Given the description of an element on the screen output the (x, y) to click on. 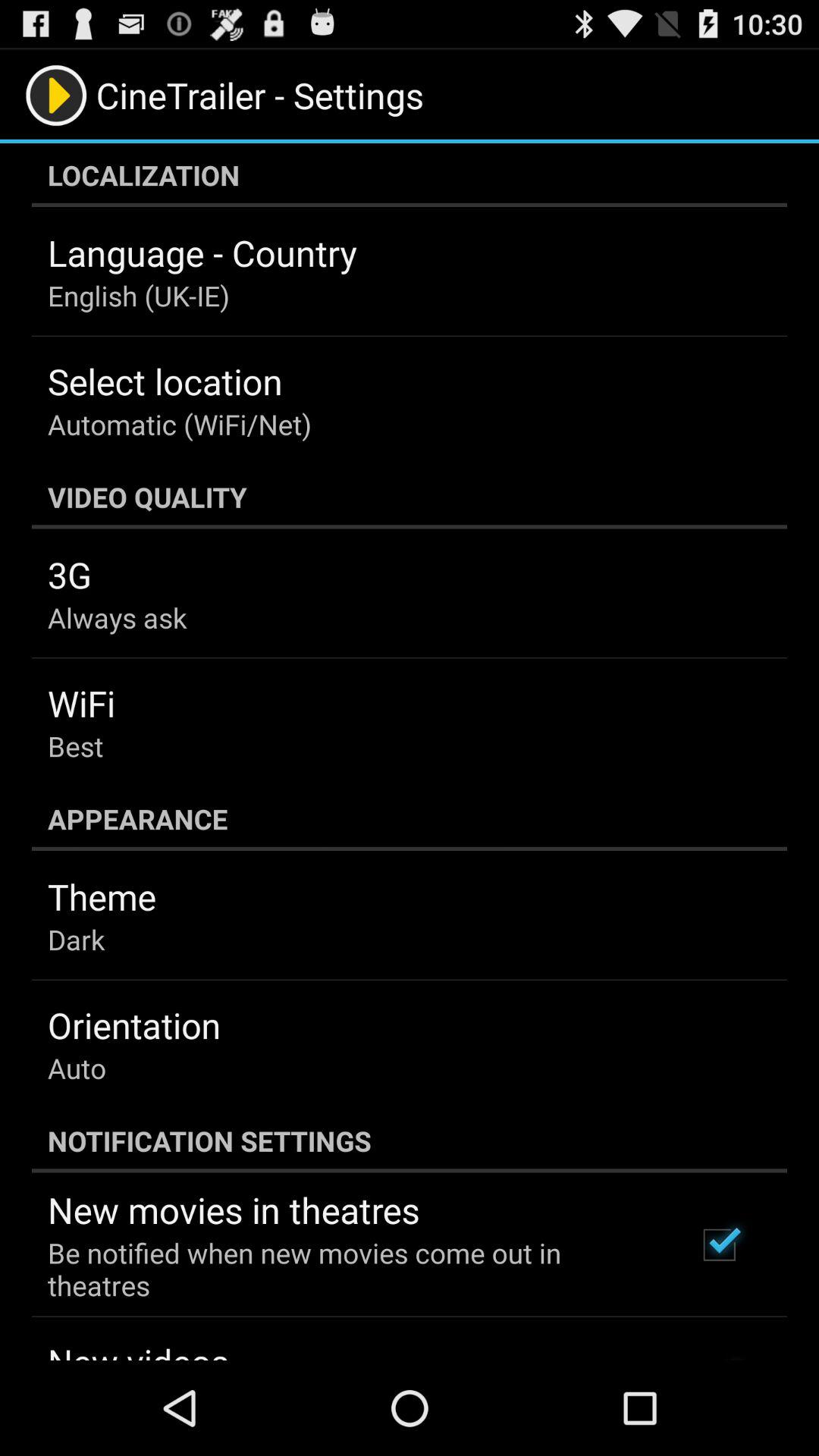
turn off the language - country item (202, 252)
